Given the description of an element on the screen output the (x, y) to click on. 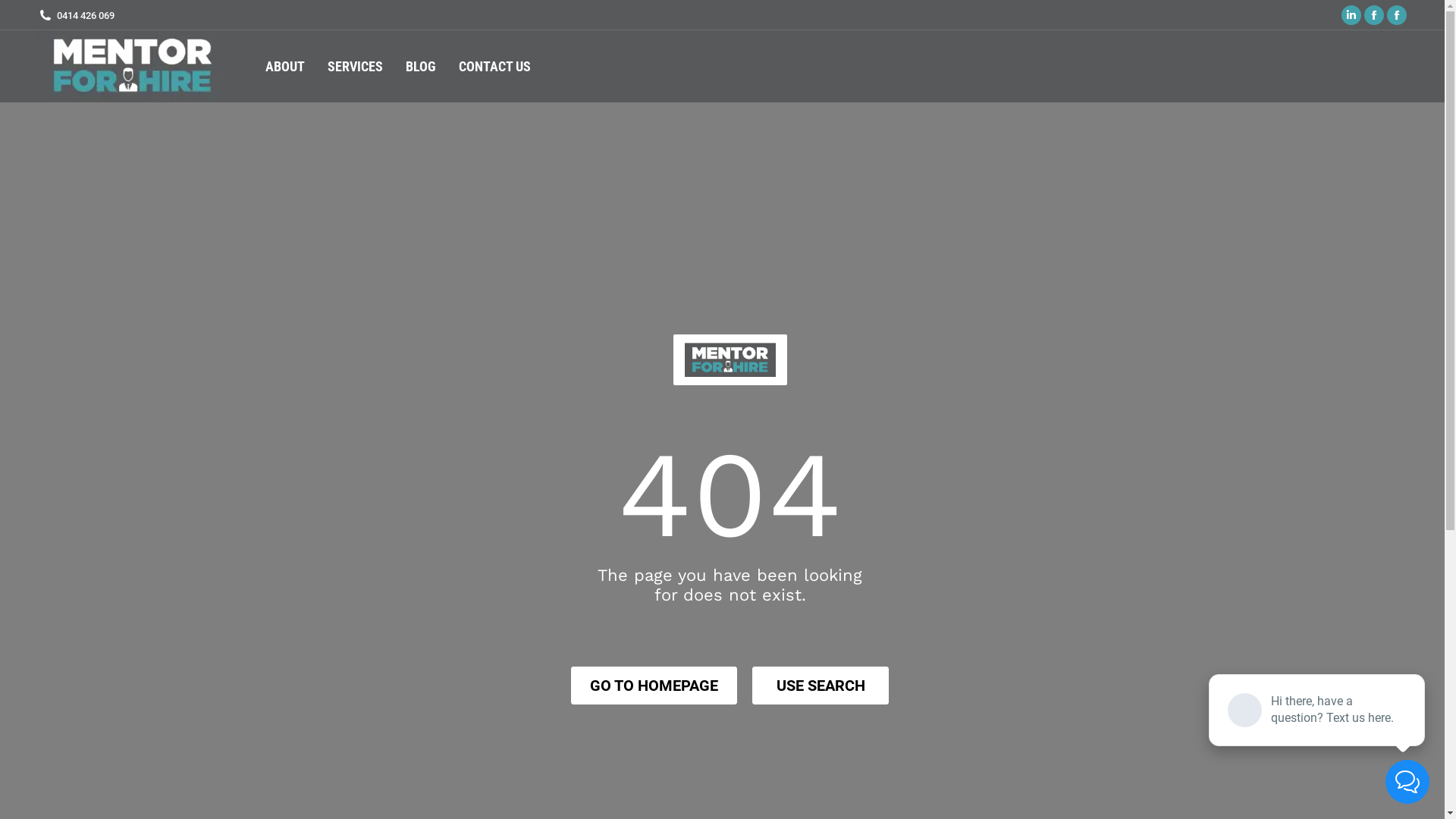
BLOG Element type: text (420, 66)
0414 426 069 Element type: text (75, 14)
USE SEARCH Element type: text (820, 685)
ABOUT Element type: text (284, 66)
GO TO HOMEPAGE Element type: text (654, 685)
CONTACT US Element type: text (494, 66)
SERVICES Element type: text (354, 66)
Linkedin page opens in new window Element type: hover (1351, 15)
Facebook page opens in new window Element type: hover (1396, 15)
Facebook page opens in new window Element type: hover (1373, 15)
